Given the description of an element on the screen output the (x, y) to click on. 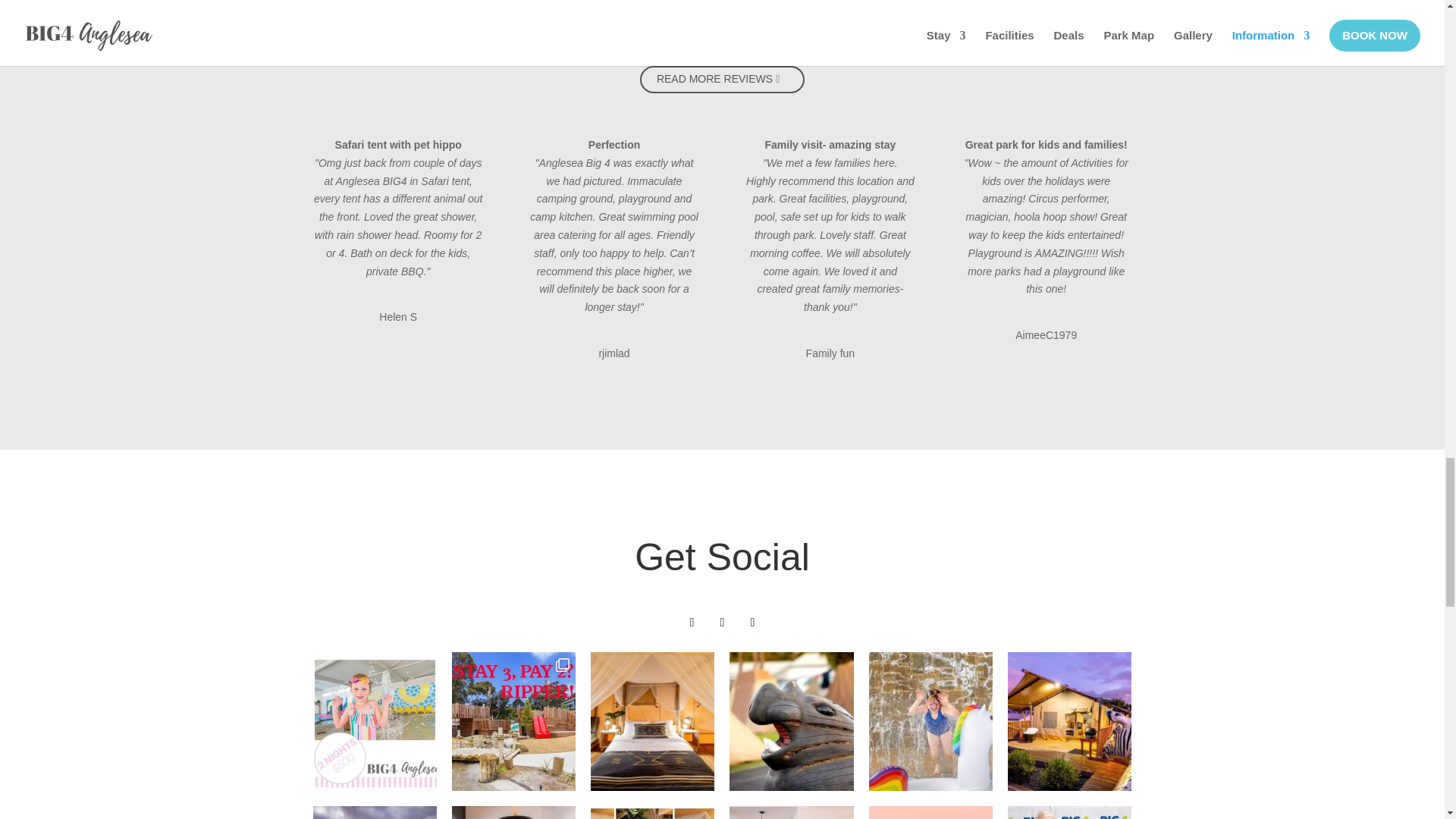
Follow on Instagram (721, 622)
Follow on Youtube (751, 622)
Follow on Facebook (691, 622)
